Given the description of an element on the screen output the (x, y) to click on. 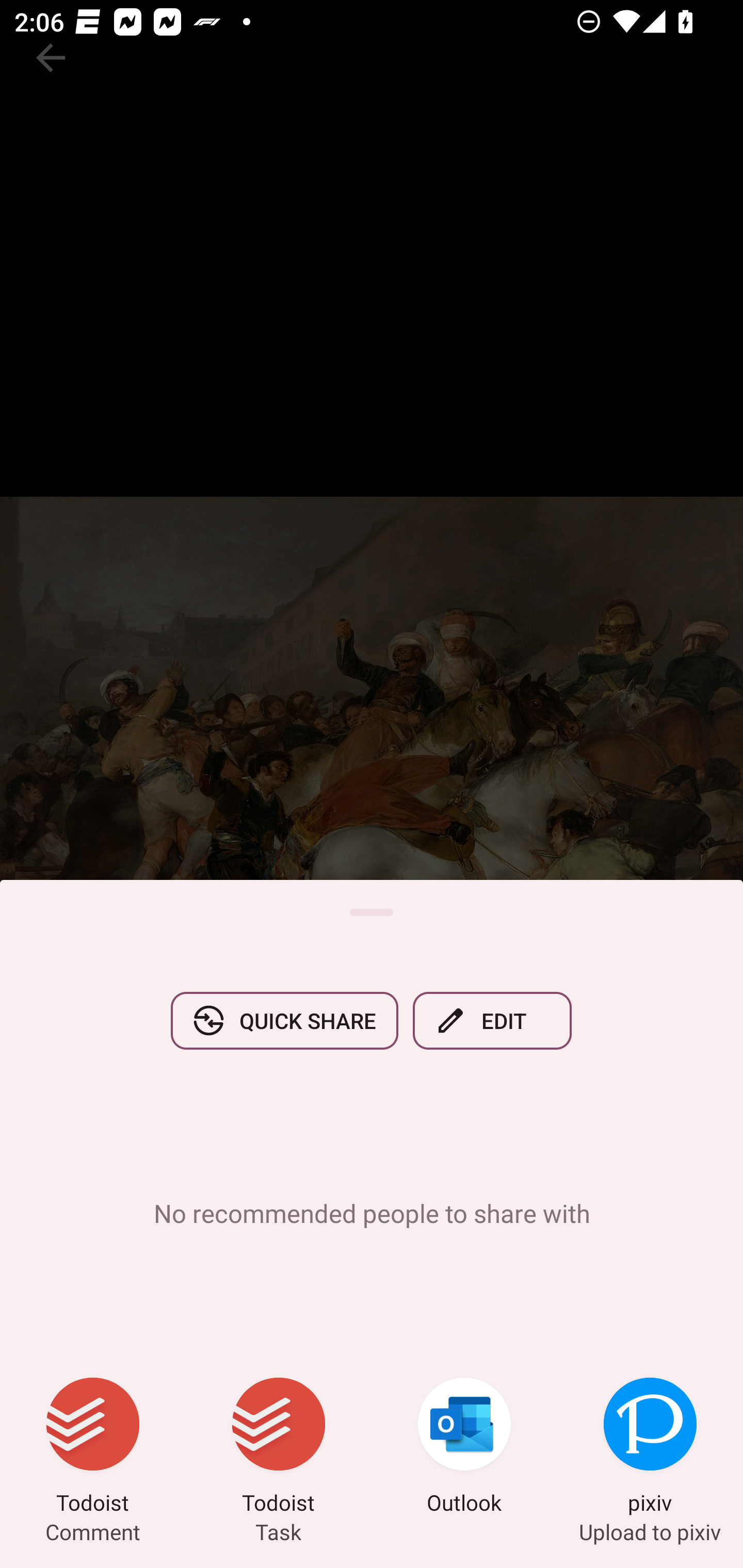
QUICK SHARE (284, 1020)
EDIT (492, 1020)
Todoist Comment (92, 1448)
Todoist Task (278, 1448)
Outlook (464, 1448)
pixiv Upload to pixiv (650, 1448)
